Given the description of an element on the screen output the (x, y) to click on. 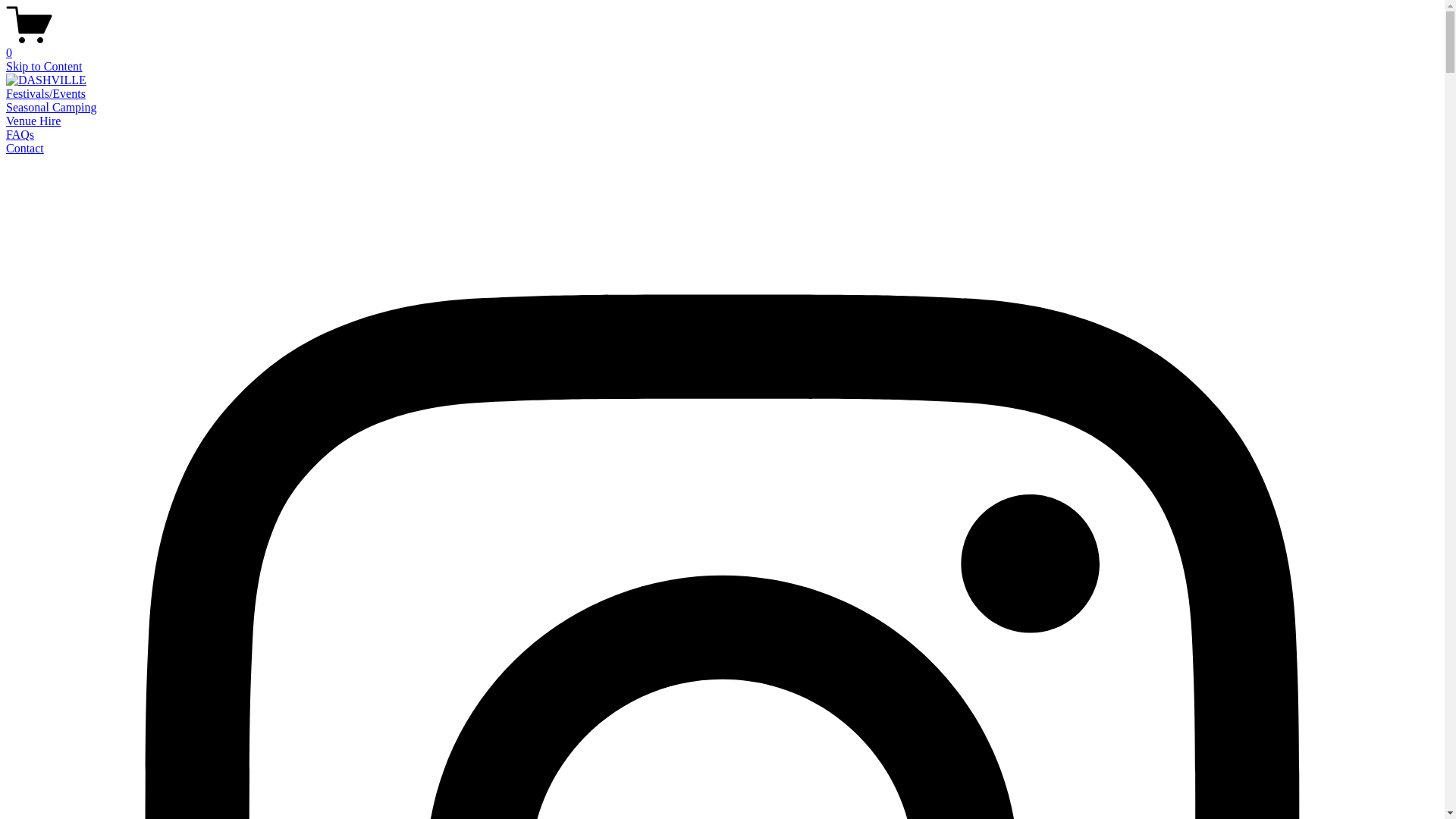
Skip to Content Element type: text (43, 65)
Contact Element type: text (24, 147)
Venue Hire Element type: text (33, 120)
Seasonal Camping Element type: text (51, 106)
Festivals/Events Element type: text (45, 93)
0 Element type: text (722, 45)
FAQs Element type: text (20, 134)
